Given the description of an element on the screen output the (x, y) to click on. 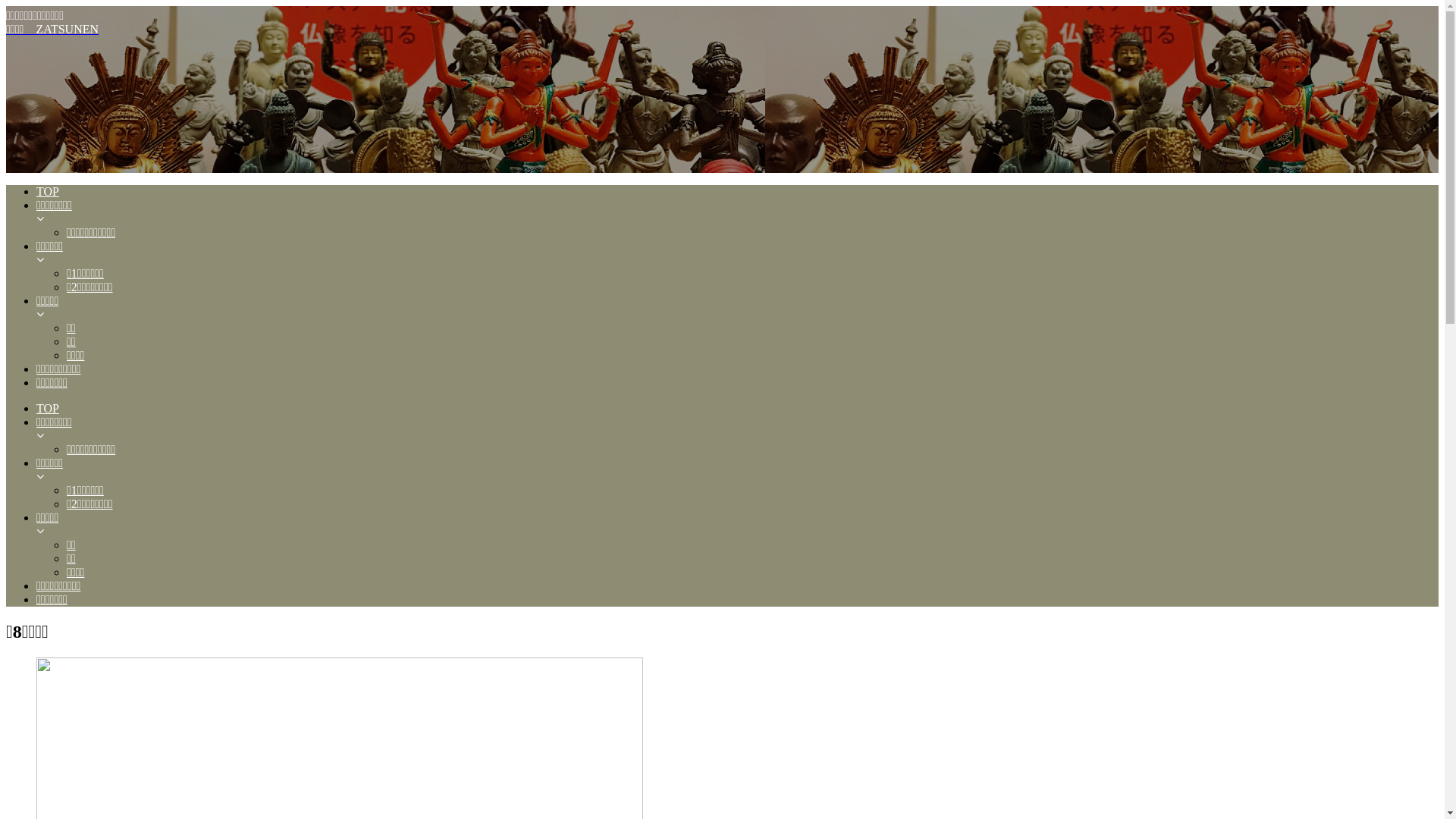
TOP Element type: text (737, 408)
TOP Element type: text (737, 191)
